Given the description of an element on the screen output the (x, y) to click on. 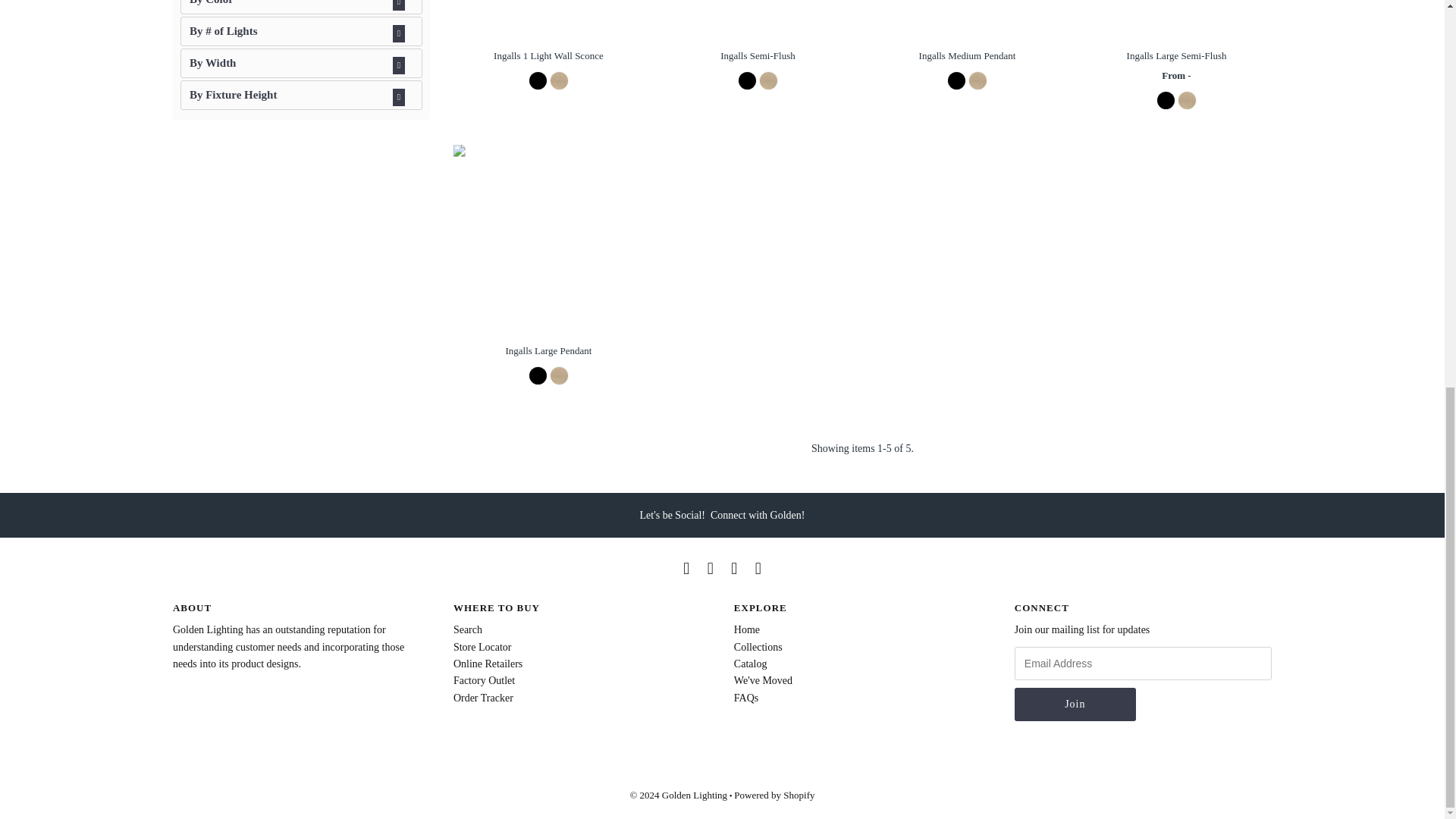
Join (1074, 704)
